Given the description of an element on the screen output the (x, y) to click on. 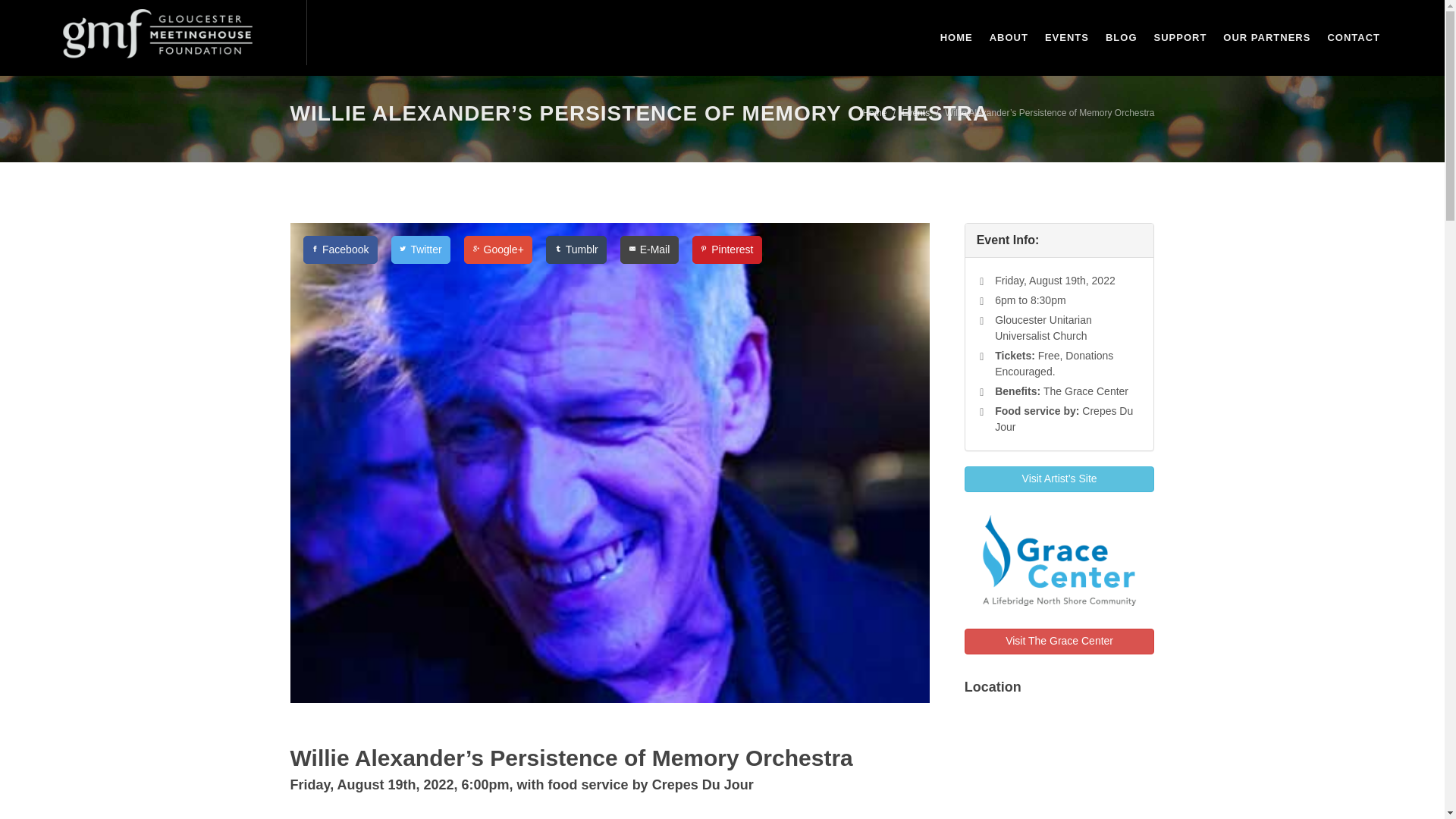
SUPPORT (1180, 38)
CONTACT (1353, 38)
Pinterest (727, 249)
Home (873, 112)
E-Mail (650, 249)
Tumblr (577, 249)
Facebook (341, 249)
Twitter (421, 249)
OUR PARTNERS (1266, 38)
Events (915, 112)
